Given the description of an element on the screen output the (x, y) to click on. 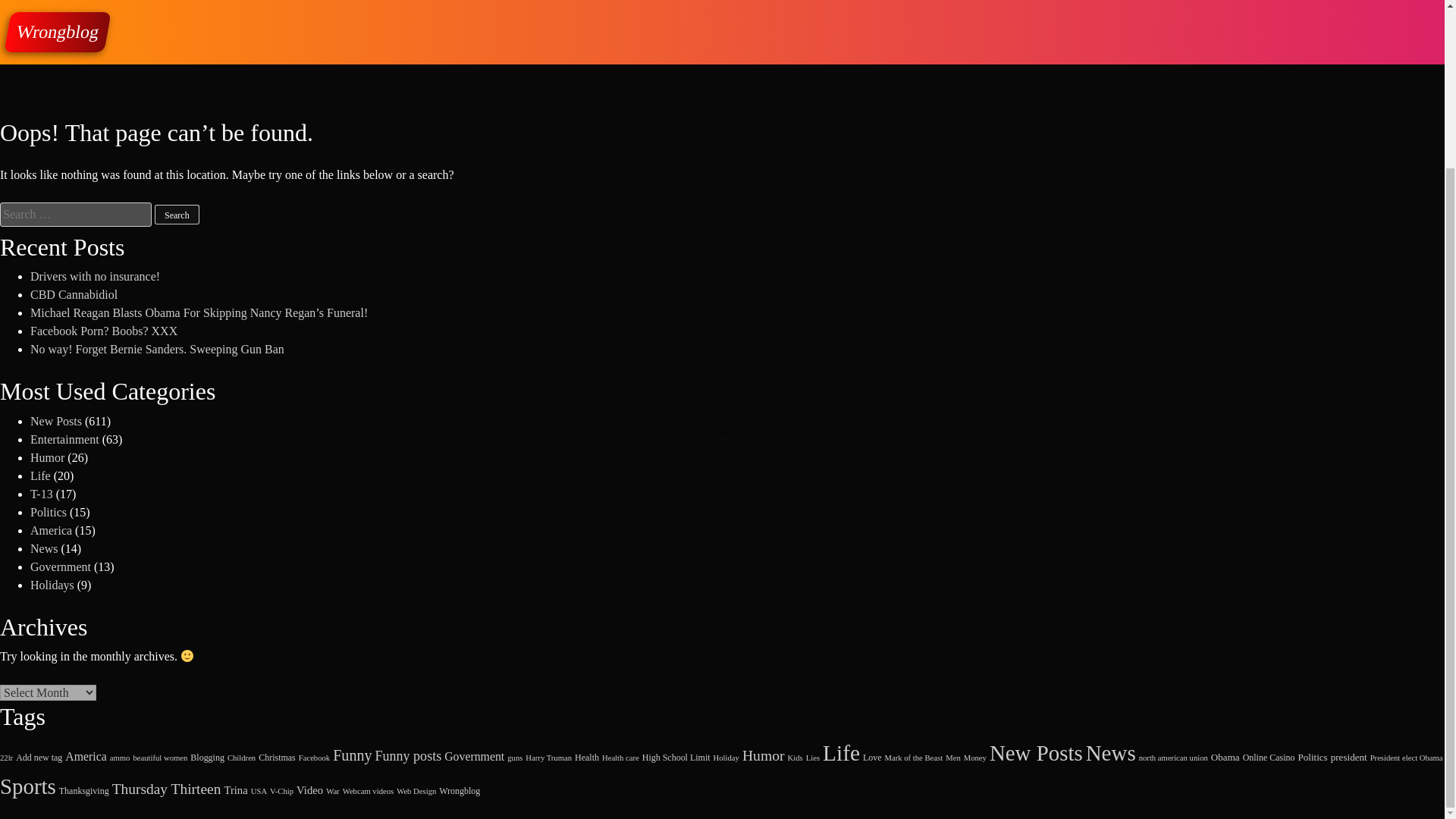
Humor (47, 457)
Drivers with no insurance! (95, 276)
America (85, 756)
Lies (812, 757)
Christmas (277, 757)
Health (586, 757)
CBD Cannabidiol (73, 294)
Wrongblog (53, 32)
Facebook Porn? Boobs? XXX (103, 330)
guns (514, 757)
Humor (763, 754)
Blogging (207, 757)
Funny (352, 754)
High School Limit (676, 757)
America (50, 530)
